Given the description of an element on the screen output the (x, y) to click on. 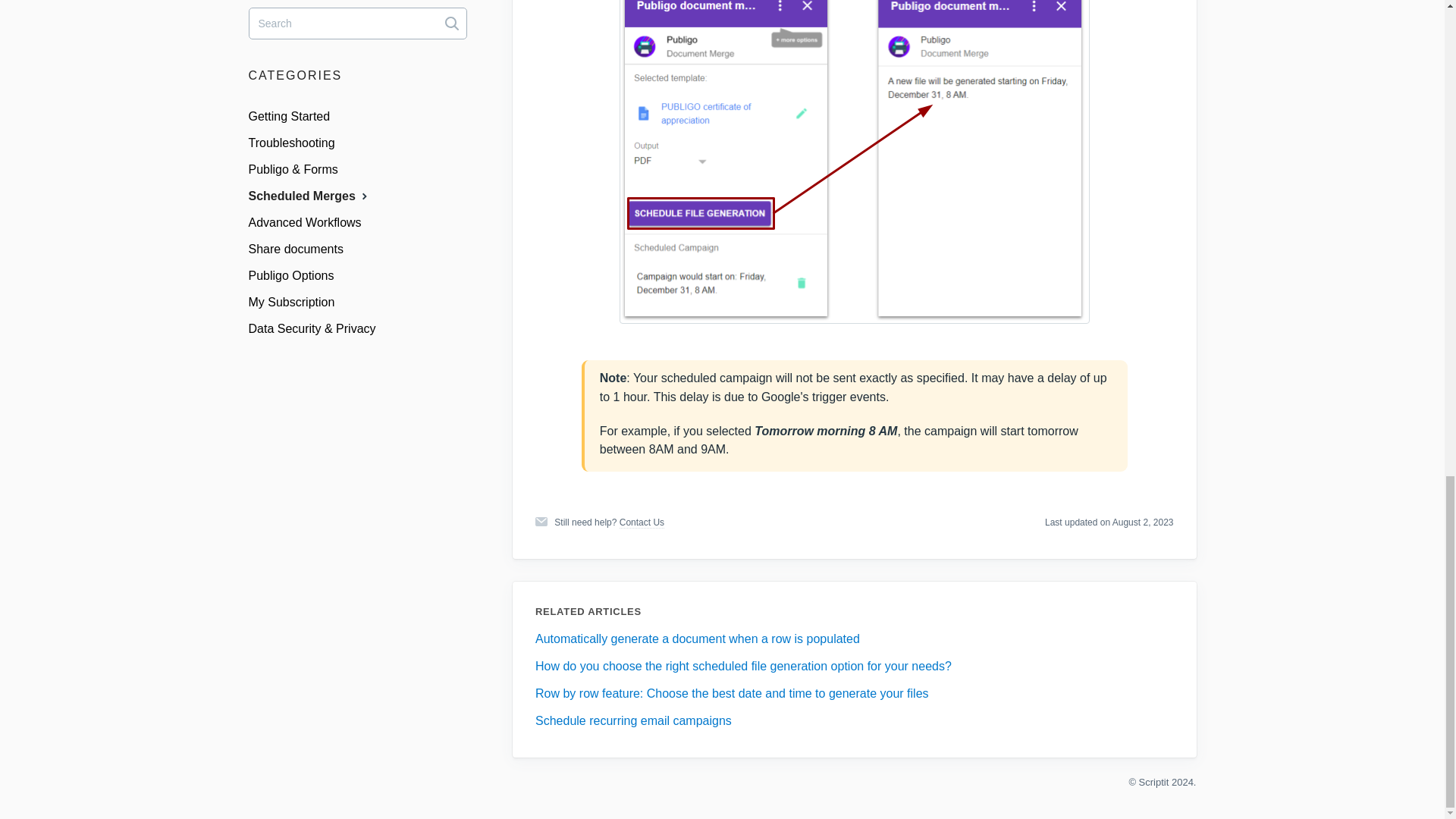
Automatically generate a document when a row is populated (697, 638)
Schedule recurring email campaigns (633, 720)
Contact Us (641, 522)
